Given the description of an element on the screen output the (x, y) to click on. 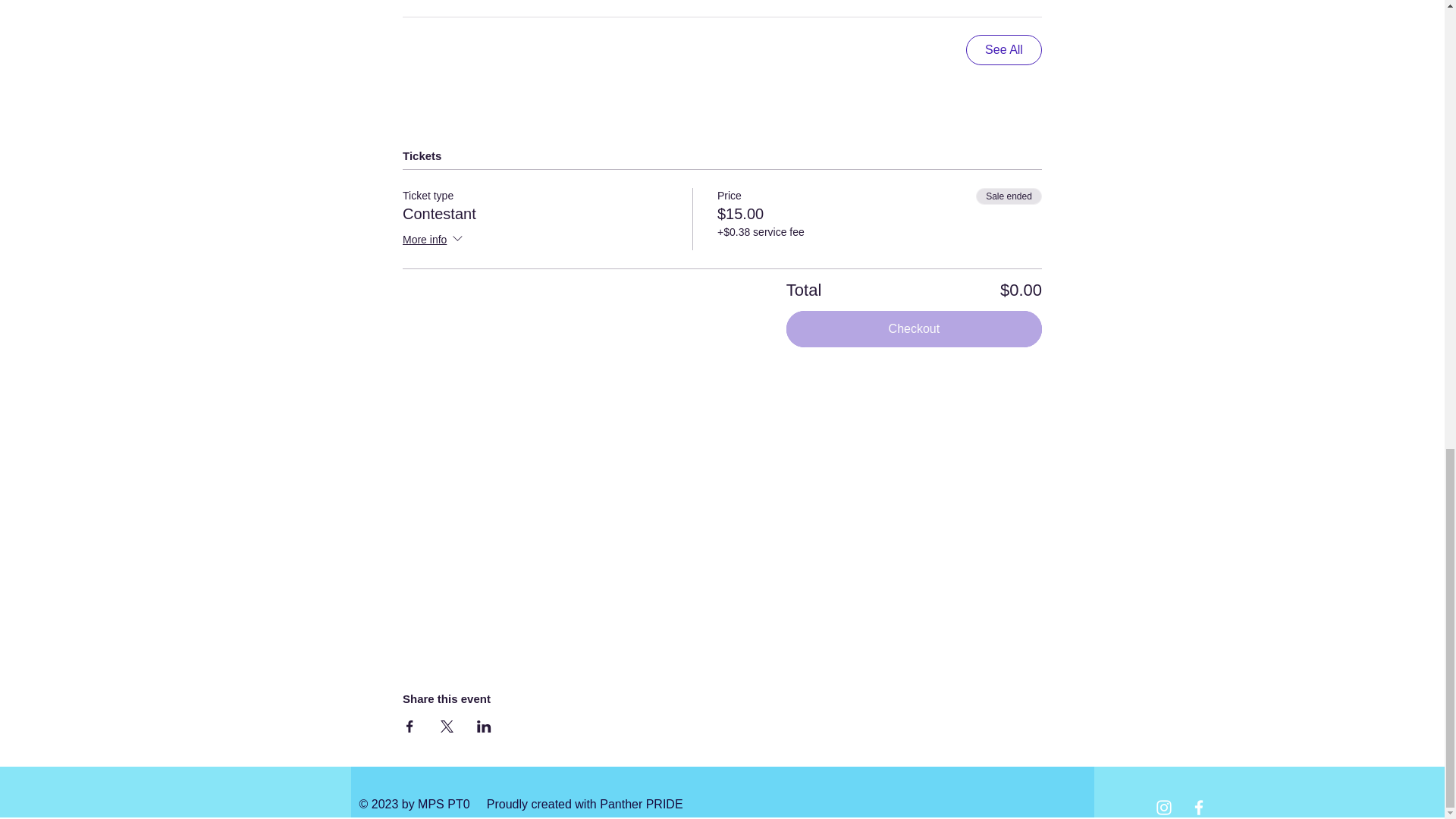
More info (434, 240)
See All (1004, 50)
Checkout (914, 329)
